Given the description of an element on the screen output the (x, y) to click on. 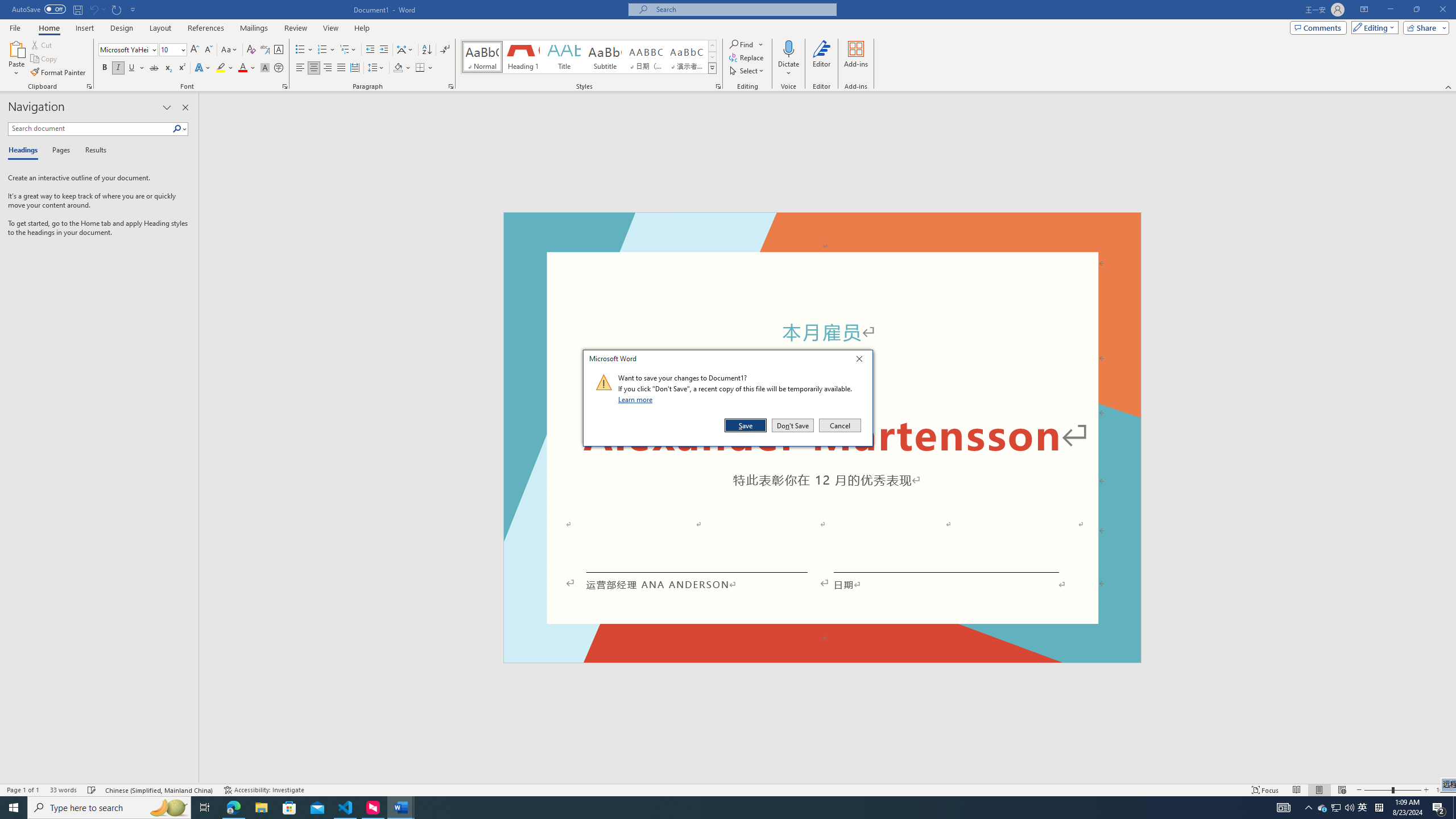
Share (1423, 27)
Character Border (278, 49)
Office Clipboard... (88, 85)
Design (122, 28)
Restore Down (1416, 9)
Paste (16, 48)
Replace... (747, 56)
Align Right (327, 67)
Shading RGB(0, 0, 0) (397, 67)
Repeat Doc Close (117, 9)
Microsoft Store (289, 807)
More Options (788, 68)
Read Mode (1296, 790)
Tray Input Indicator - Chinese (Simplified, China) (1335, 807)
